Given the description of an element on the screen output the (x, y) to click on. 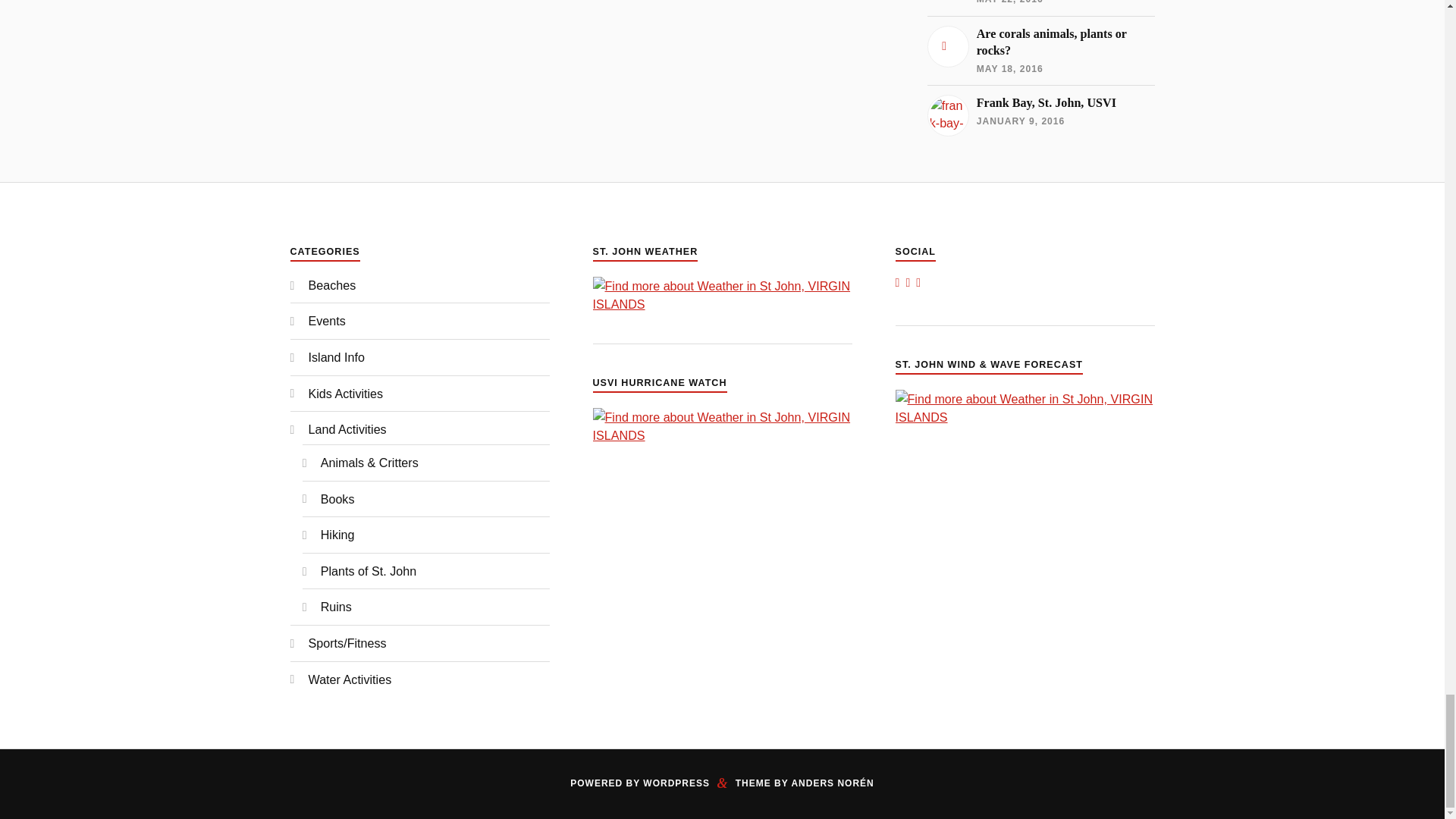
St John, VIRGIN ISLANDS Weather Forecast (1024, 417)
St John, VIRGIN ISLANDS Weather Forecast (721, 304)
USVI Hurricane Watch (721, 435)
